Given the description of an element on the screen output the (x, y) to click on. 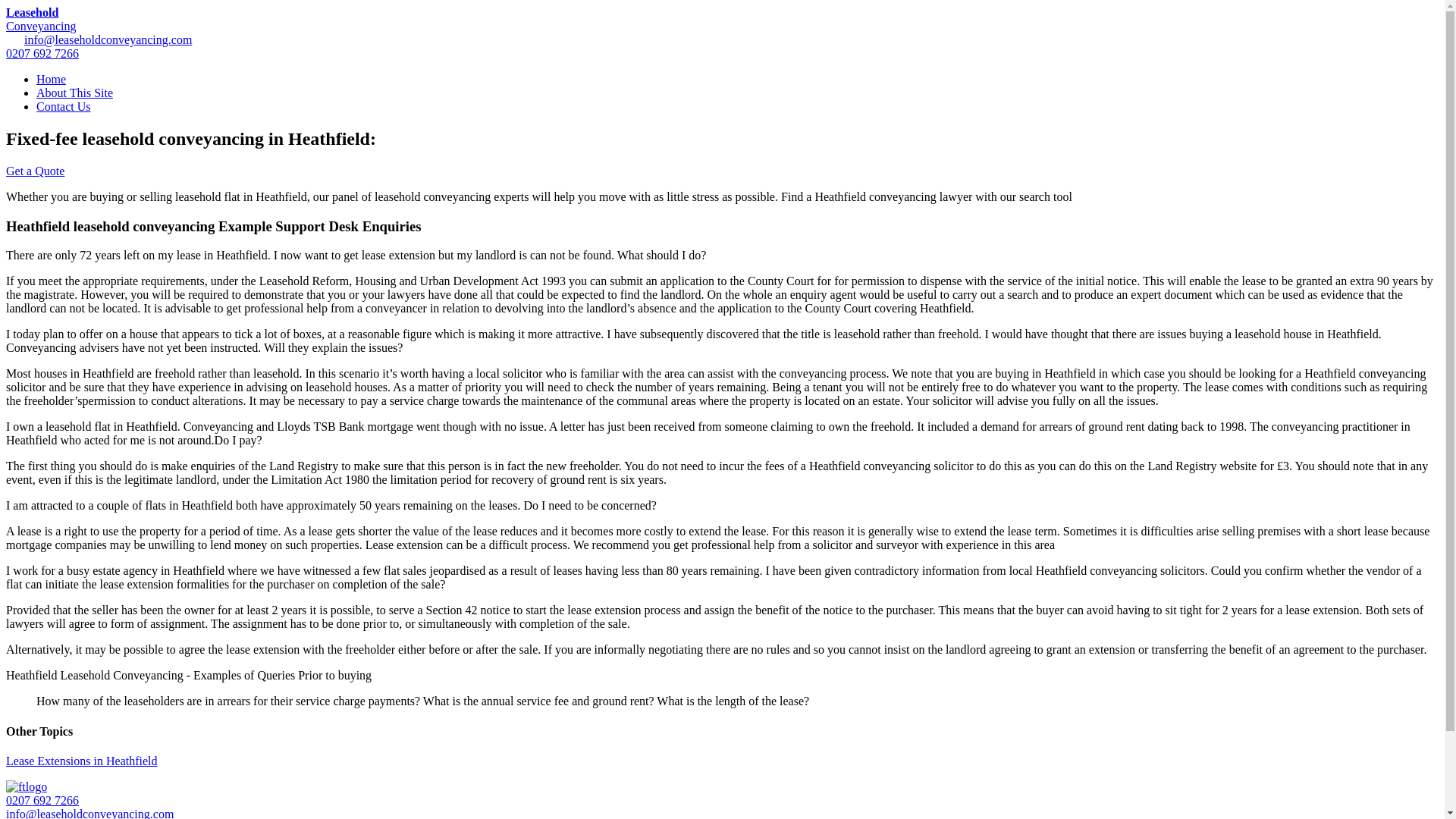
Lease Extensions in Heathfield (81, 760)
About This Site (74, 92)
Home (50, 78)
0207 692 7266 (41, 52)
0207 692 7266 (41, 799)
Contact Us (63, 106)
Get a Quote (34, 170)
